Given the description of an element on the screen output the (x, y) to click on. 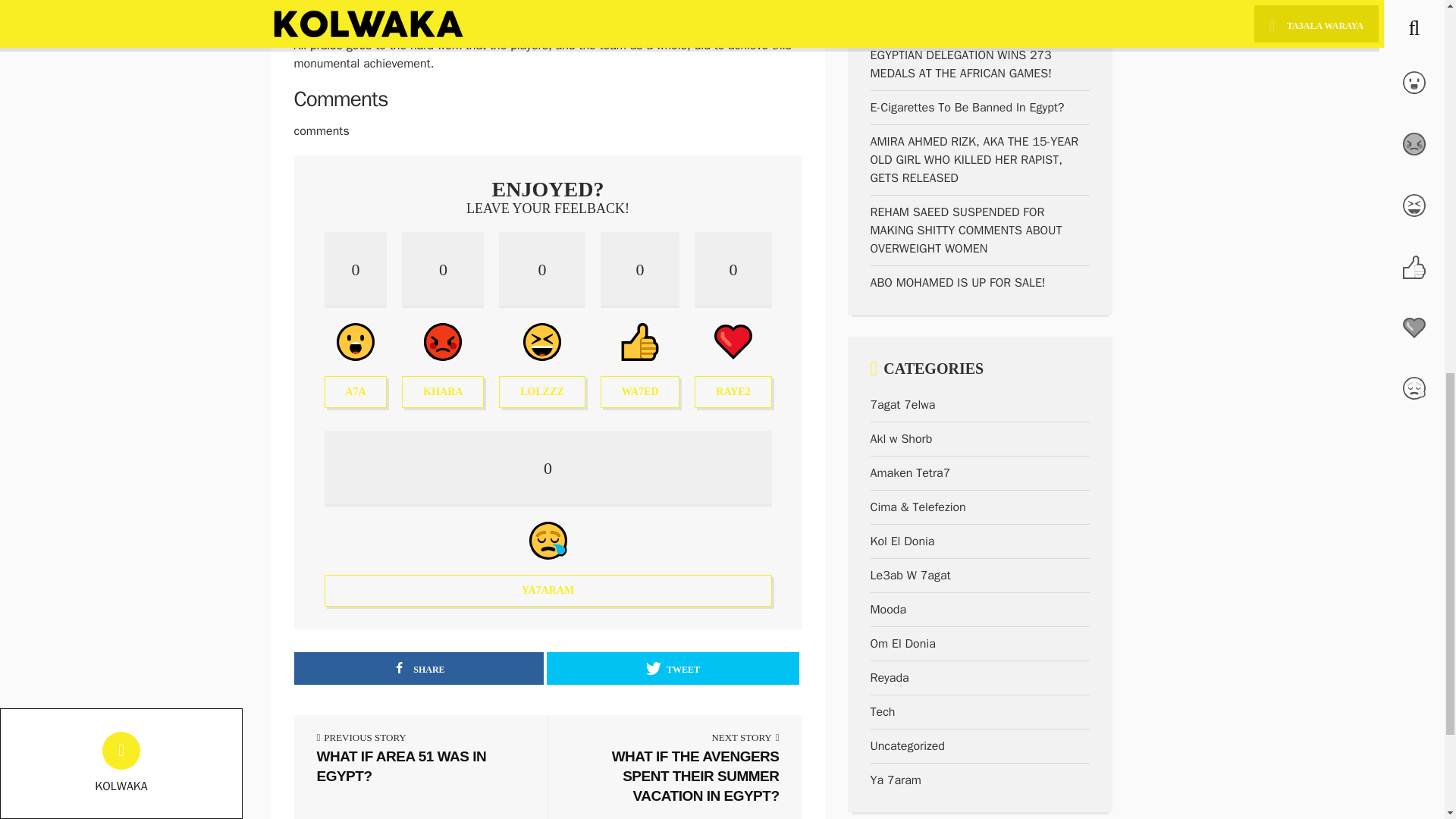
TWEET (542, 319)
WHAT IF THE AVENGERS SPENT THEIR SUMMER VACATION IN EGYPT? (547, 518)
SHARE (672, 667)
WHAT IF AREA 51 WAS IN EGYPT? (674, 775)
